Given the description of an element on the screen output the (x, y) to click on. 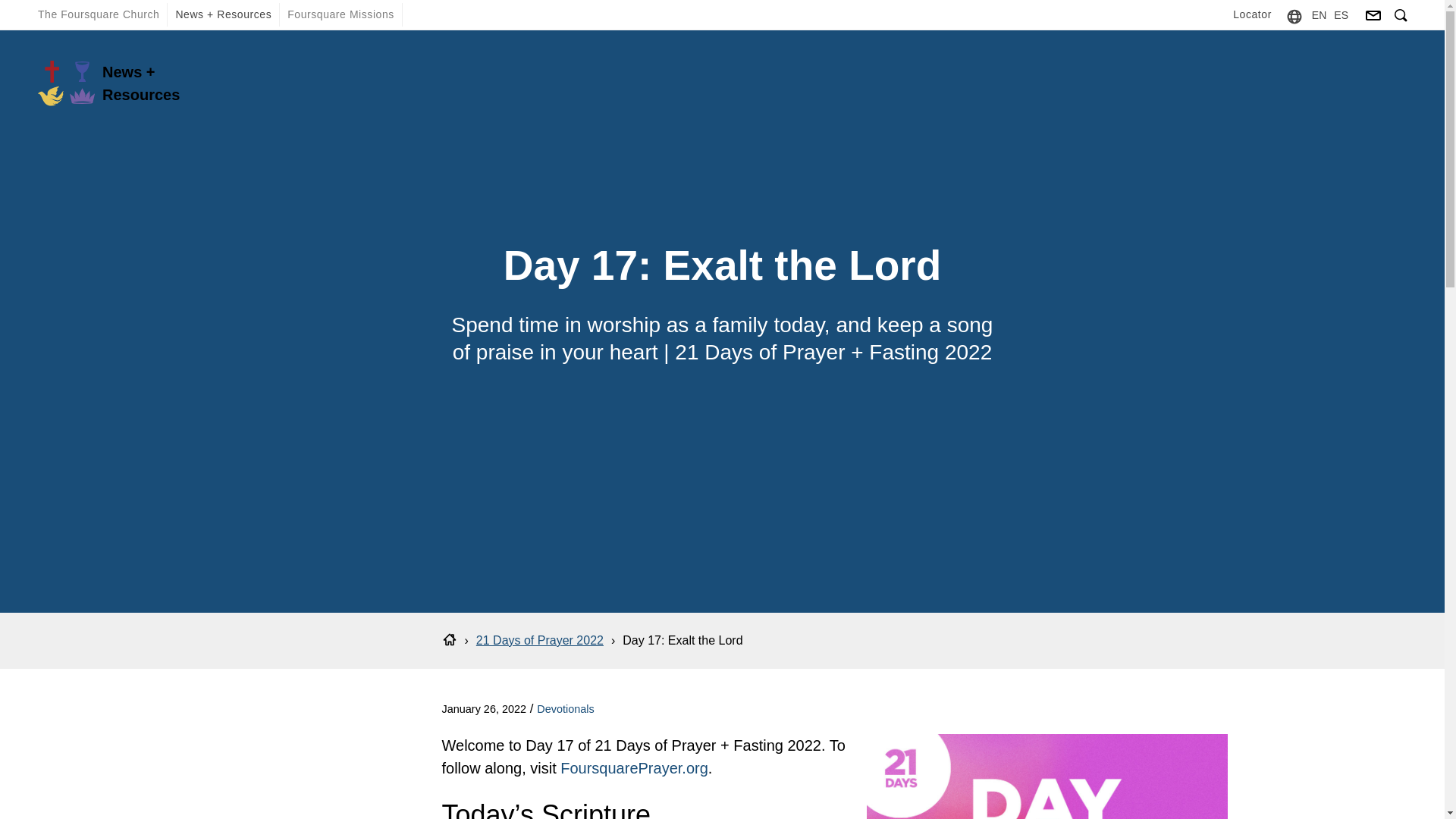
ES (1341, 14)
EN (1318, 14)
Devotionals (565, 708)
Foursquare Missions (340, 14)
Locator (1252, 14)
21 Days of Prayer 2022 (540, 640)
FoursquarePrayer.org (633, 768)
The Foursquare Church (98, 14)
Day 17: Exalt the Lord (682, 640)
